Given the description of an element on the screen output the (x, y) to click on. 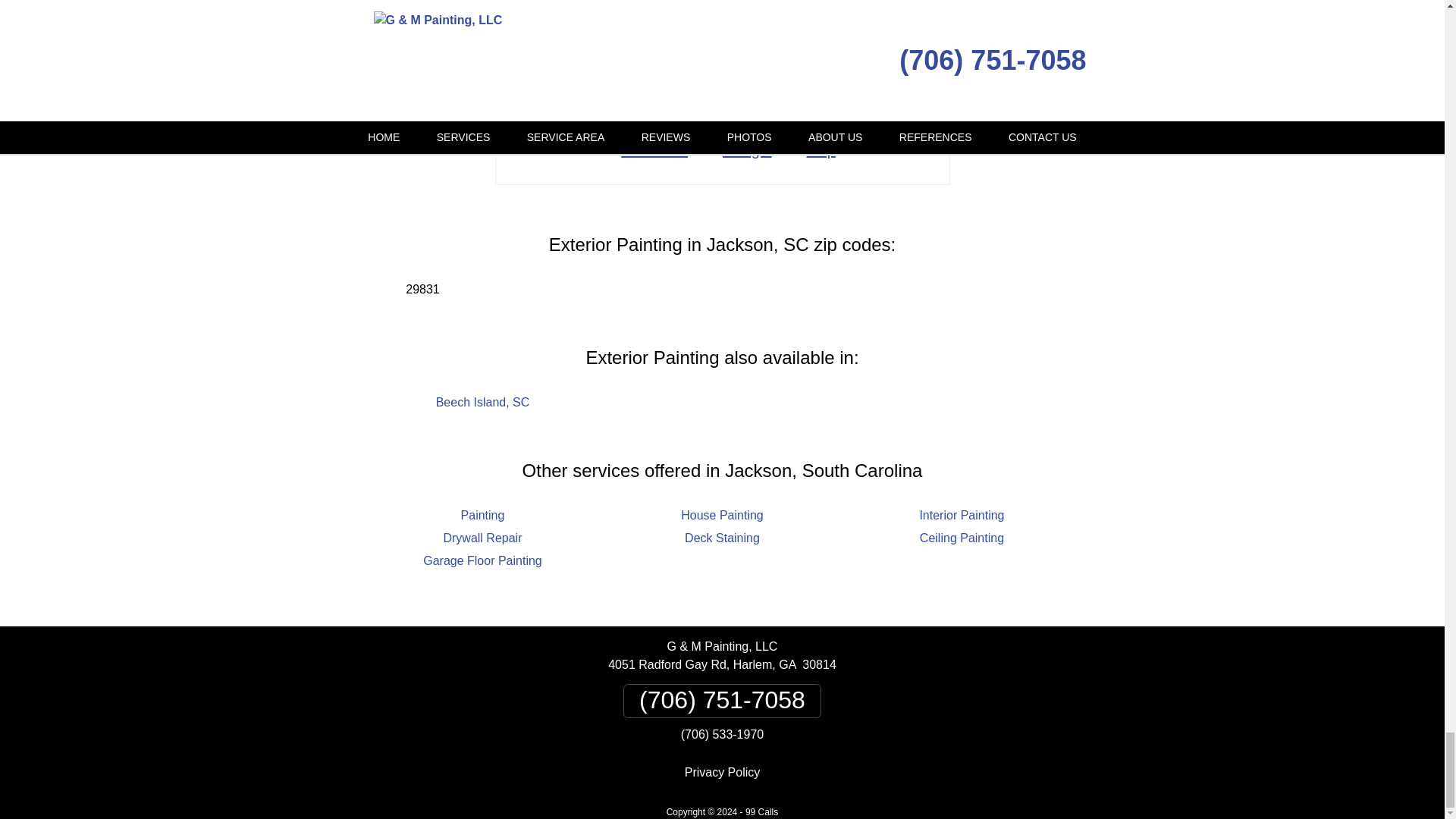
Interior Painting (961, 514)
Facebook (647, 149)
Privacy Policy (722, 771)
House Painting (721, 514)
Ceiling Painting (962, 537)
Garage Floor Painting (482, 560)
Submit (722, 18)
Deck Staining (722, 537)
Google (740, 149)
Beech Island, SC (482, 401)
Painting (483, 514)
Drywall Repair (481, 537)
Yelp (815, 149)
